Given the description of an element on the screen output the (x, y) to click on. 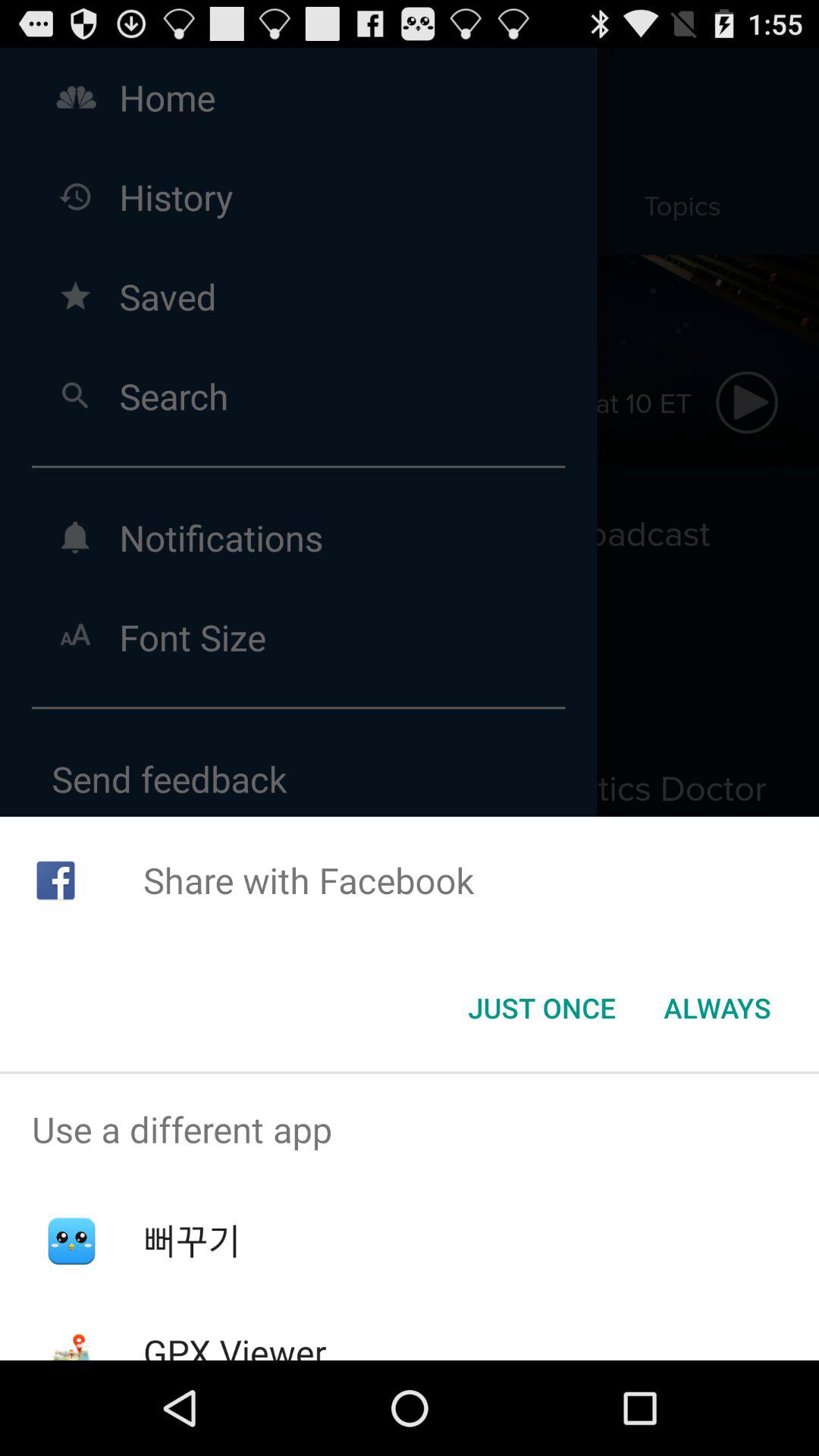
launch icon below the share with facebook icon (717, 1007)
